Given the description of an element on the screen output the (x, y) to click on. 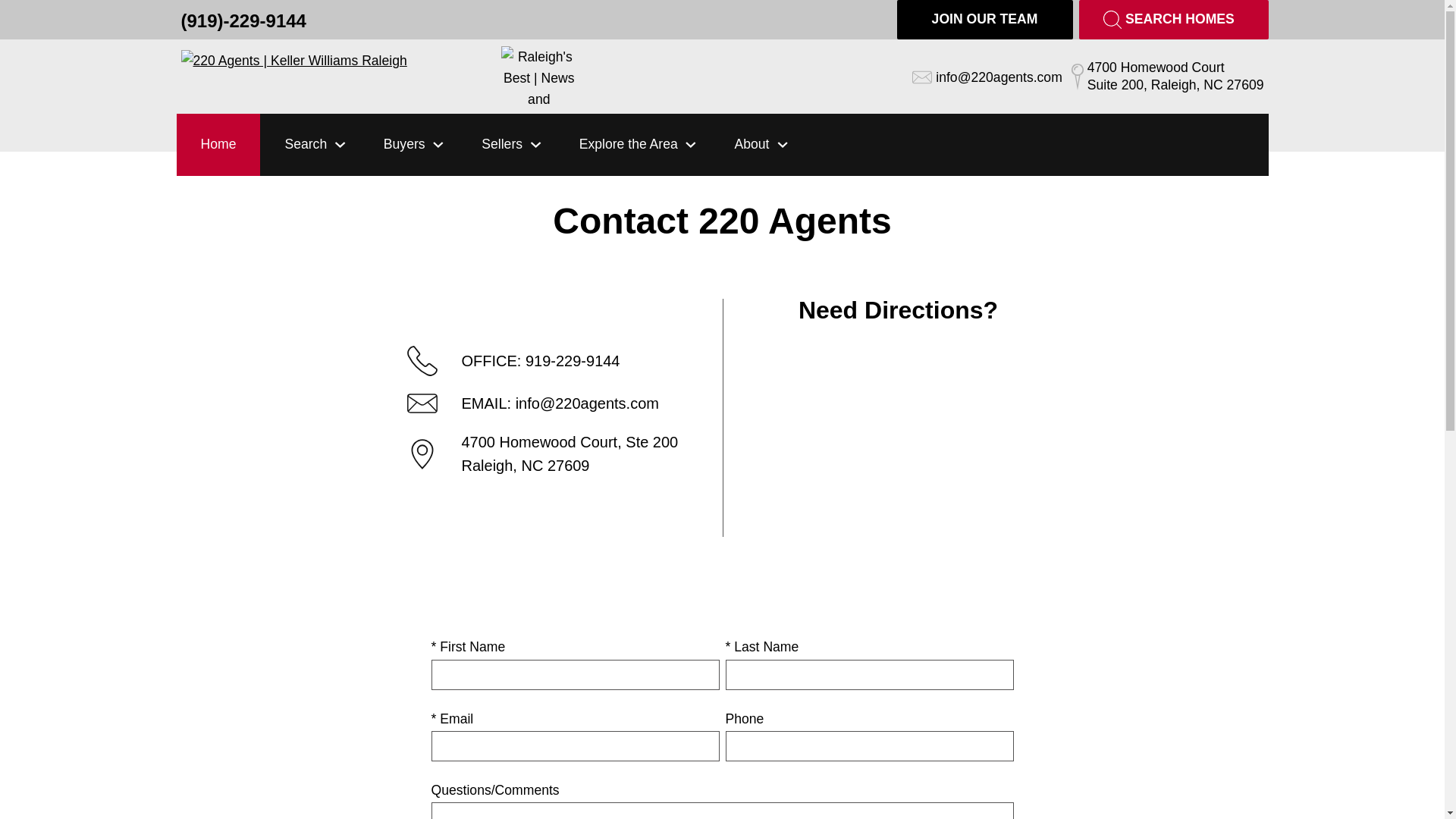
(919)-229-9144 Element type: text (242, 19)
info@220agents.com Element type: text (986, 76)
About Element type: text (740, 144)
JOIN OUR TEAM Element type: text (984, 19)
Buyers Element type: text (393, 144)
Explore the Area Element type: text (617, 144)
SEARCH HOMES Element type: text (1172, 19)
EMAIL: info@220agents.com Element type: text (545, 409)
Search Element type: text (294, 144)
Sellers Element type: text (491, 144)
4700 Homewood Court
Suite 200, Raleigh, NC 27609 Element type: text (1167, 76)
OFFICE: 919-229-9144 Element type: text (545, 366)
Home Element type: text (217, 144)
4700 Homewood Court, Ste 200
Raleigh, NC 27609 Element type: text (545, 459)
